Given the description of an element on the screen output the (x, y) to click on. 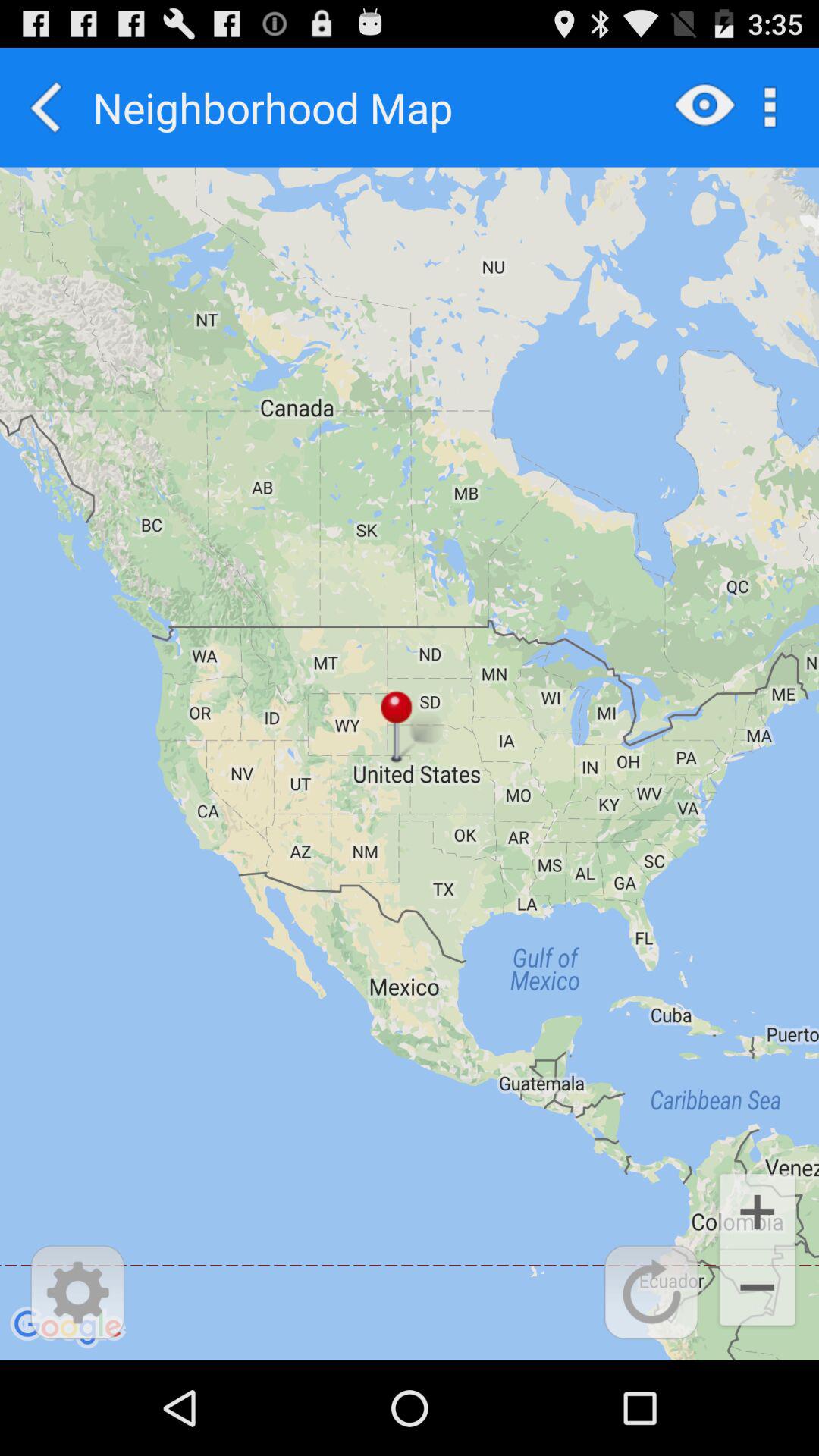
add something (651, 1292)
